Given the description of an element on the screen output the (x, y) to click on. 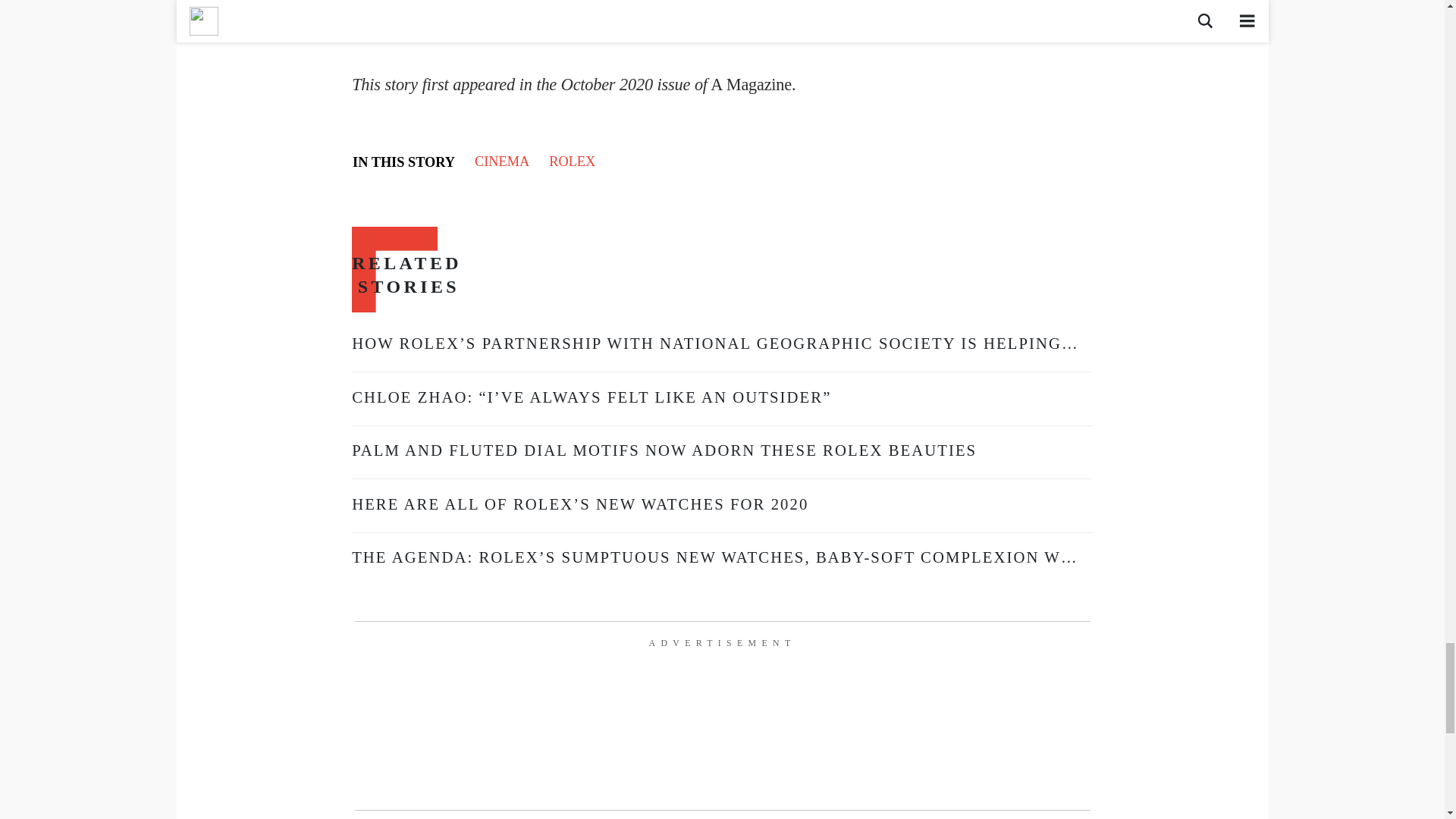
ROLEX (571, 160)
Palm And Fluted Dial Motifs Now Adorn These Rolex Beauties (664, 450)
CINEMA (501, 160)
PALM AND FLUTED DIAL MOTIFS NOW ADORN THESE ROLEX BEAUTIES (664, 450)
